Given the description of an element on the screen output the (x, y) to click on. 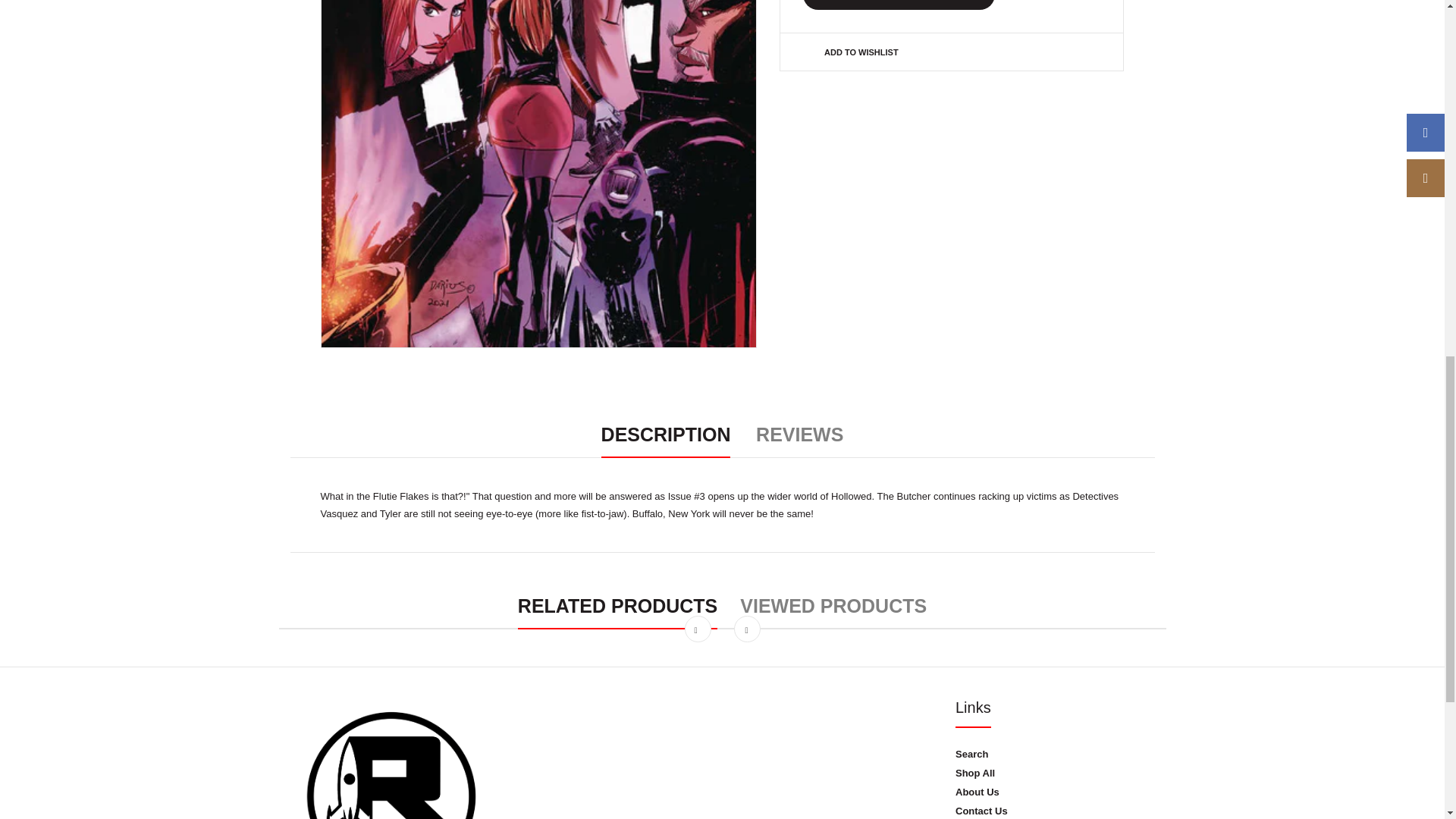
Add to wishlist (861, 51)
